Given the description of an element on the screen output the (x, y) to click on. 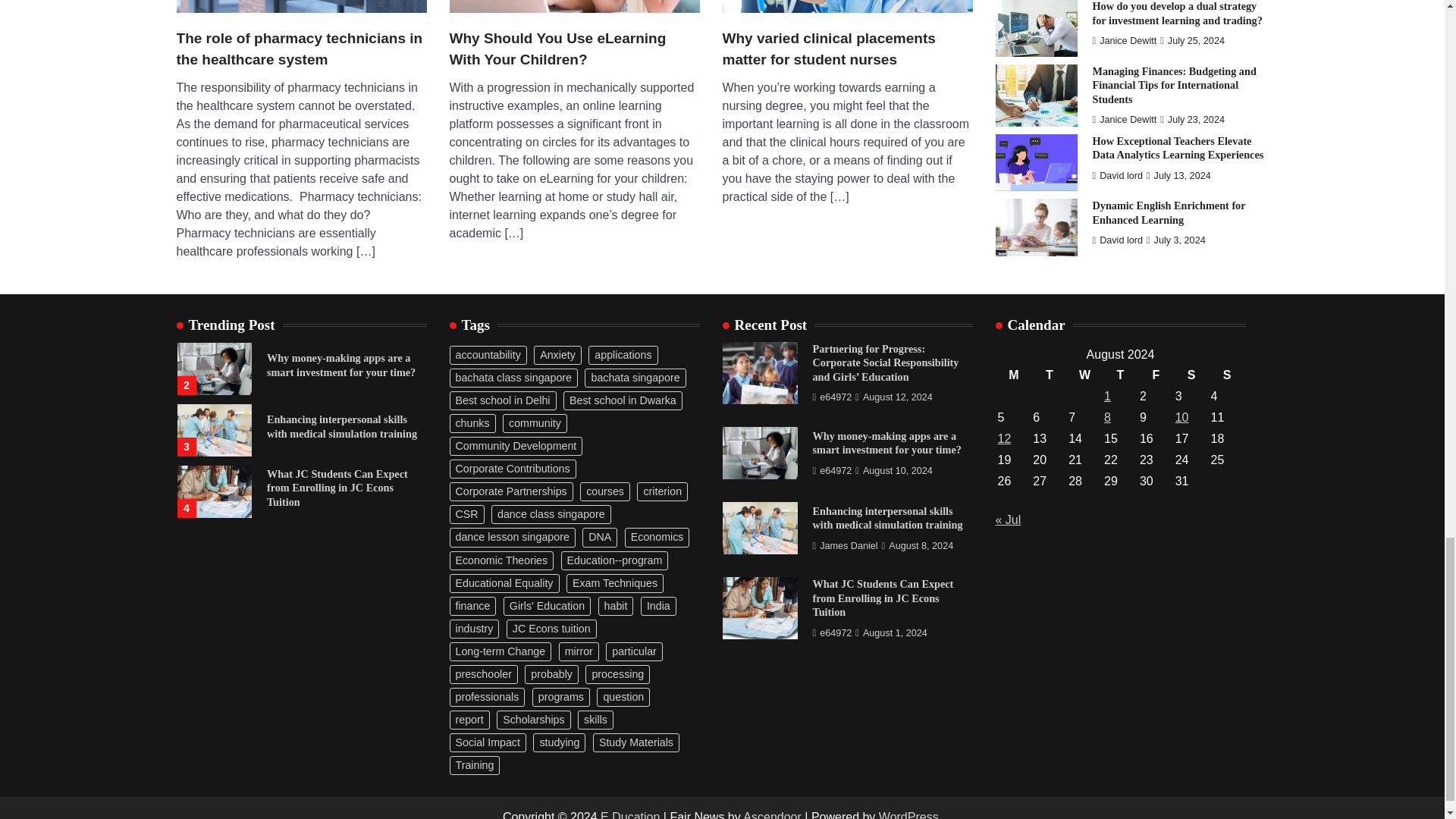
Why Should You Use eLearning With Your Children? (573, 49)
Why varied clinical placements matter for student nurses (847, 49)
Wednesday (1084, 374)
Friday (1155, 374)
The role of pharmacy technicians in the healthcare system (301, 49)
Thursday (1120, 374)
Saturday (1191, 374)
Tuesday (1048, 374)
Sunday (1226, 374)
Monday (1012, 374)
